Given the description of an element on the screen output the (x, y) to click on. 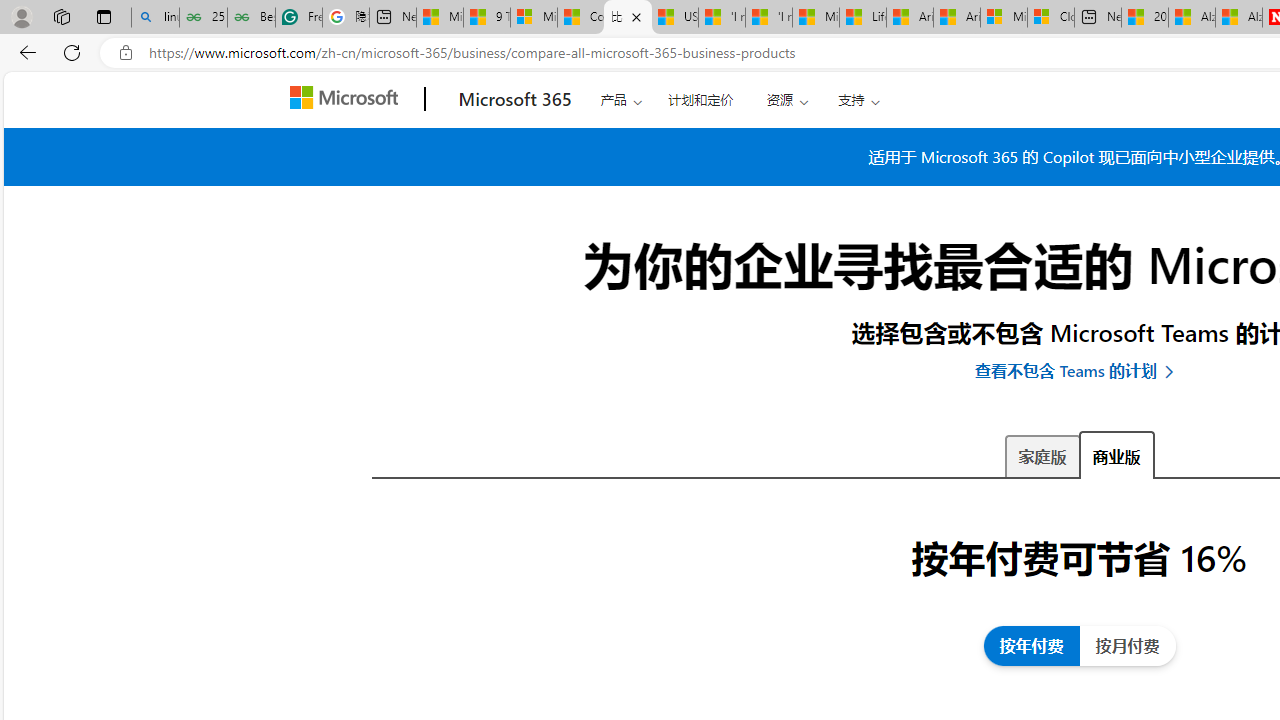
Cloud Computing Services | Microsoft Azure (1050, 17)
25 Basic Linux Commands For Beginners - GeeksforGeeks (203, 17)
20 Ways to Boost Your Protein Intake at Every Meal (1145, 17)
linux basic - Search (155, 17)
